Given the description of an element on the screen output the (x, y) to click on. 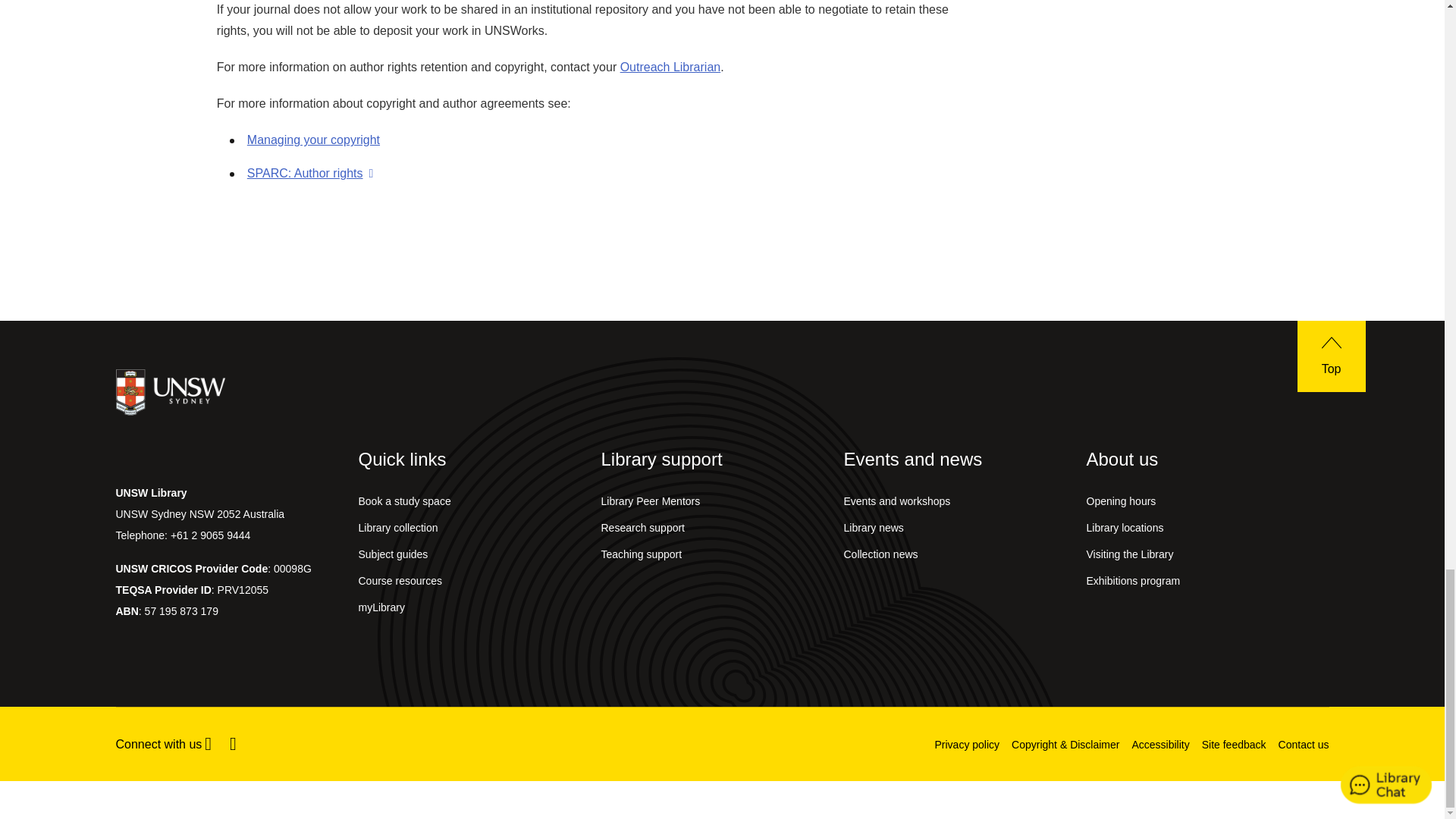
Copyright - Publishing your research (313, 139)
Outreach Librarians (670, 66)
